Given the description of an element on the screen output the (x, y) to click on. 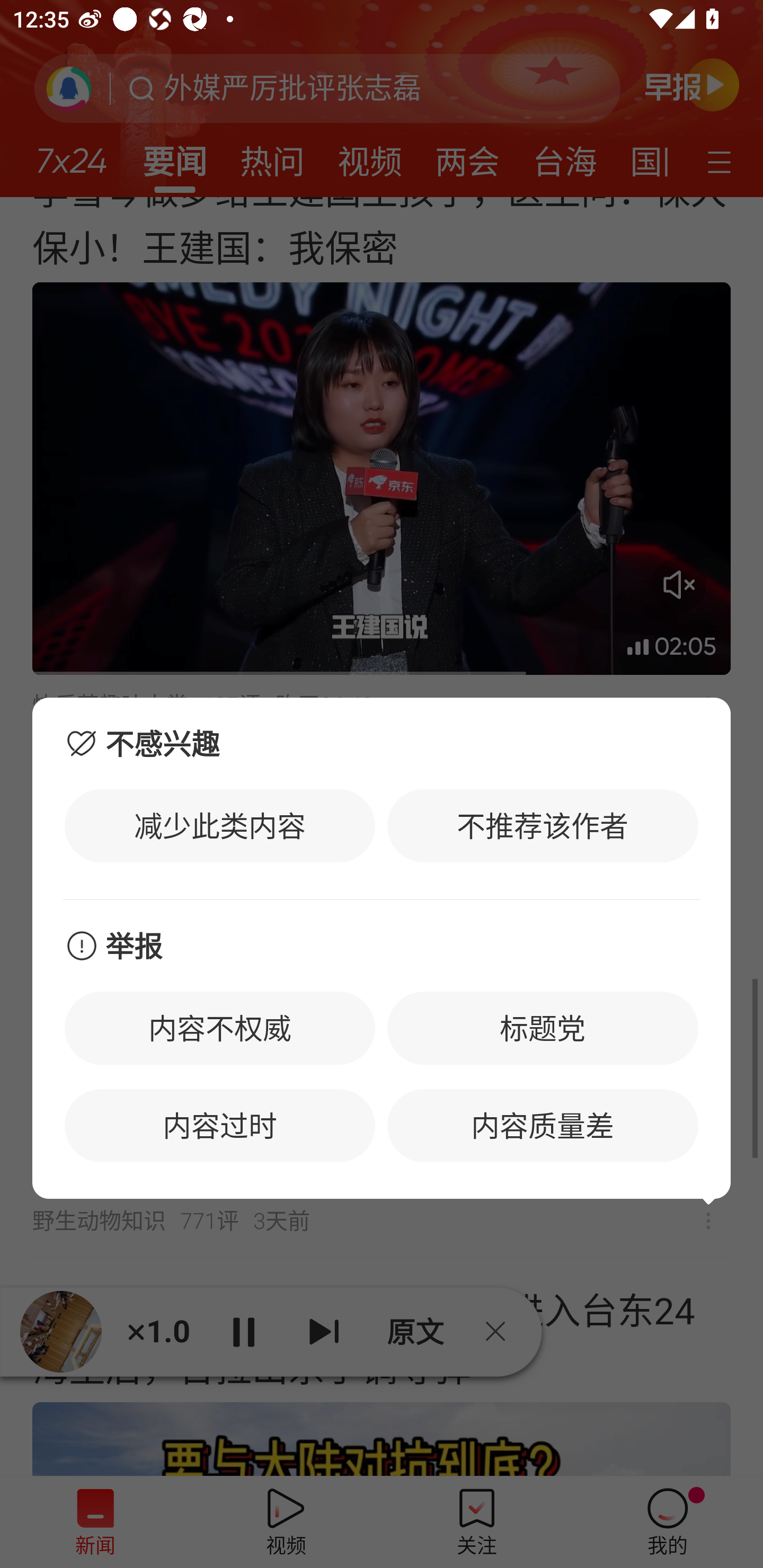
不感兴趣 减少此类内容 不推荐该作者 (381, 797)
减少此类内容 (219, 825)
不推荐该作者 (542, 825)
举报 内容不权威 标题党 内容过时 内容质量差 (381, 1049)
内容不权威 (219, 1027)
标题党 (542, 1027)
内容过时 (219, 1125)
内容质量差 (542, 1125)
